Given the description of an element on the screen output the (x, y) to click on. 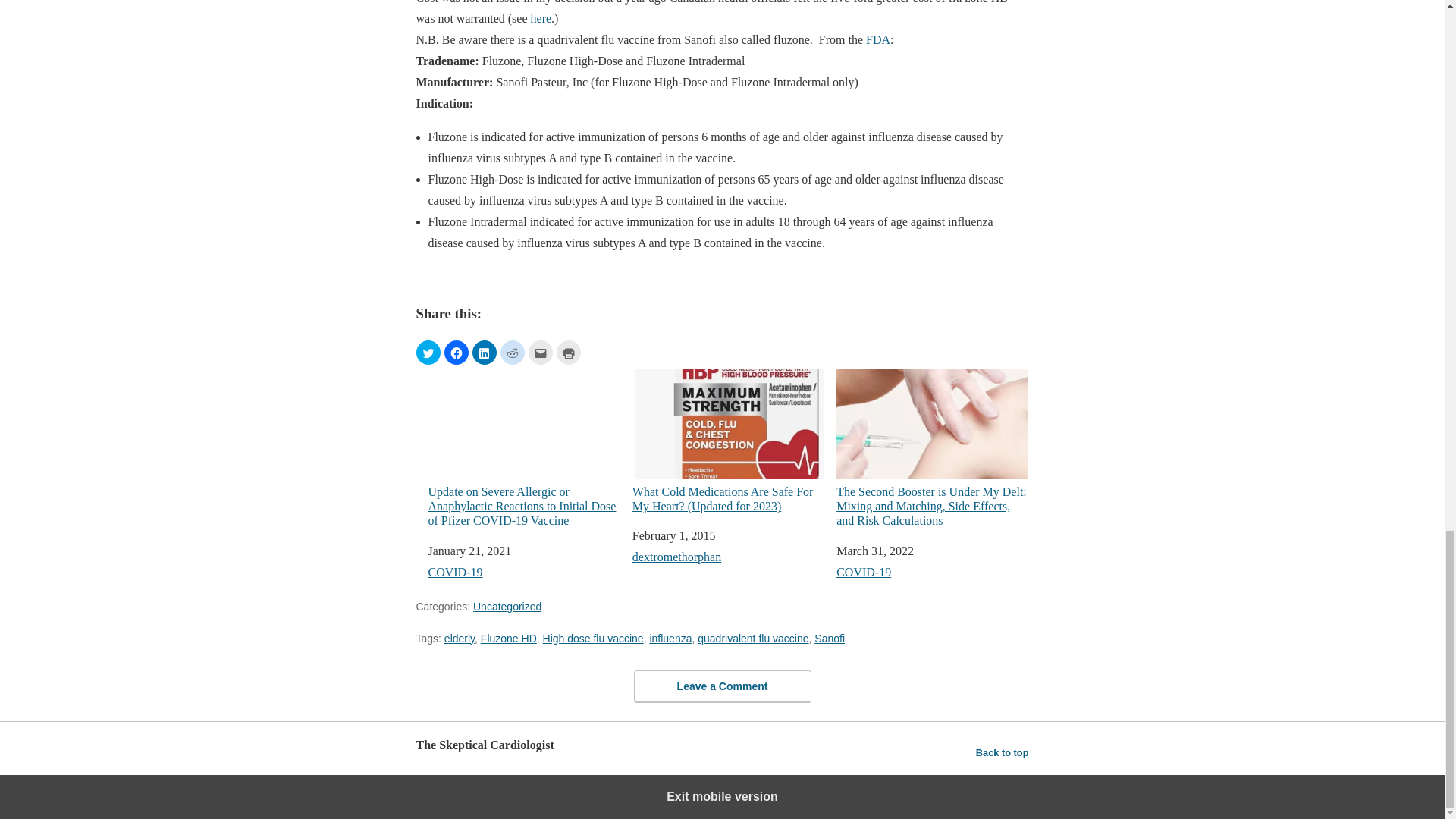
Print (568, 352)
FDA (877, 39)
Sanofi (828, 637)
Fluzone HD (508, 637)
Click to share on Reddit (512, 352)
Uncategorized (507, 605)
Leave a Comment (721, 686)
Click to share on Email (539, 352)
Back to top (1002, 752)
Click to share on Facebook (456, 352)
here (541, 18)
COVID-19 (863, 571)
Click to share on LinkedIn (483, 352)
